Given the description of an element on the screen output the (x, y) to click on. 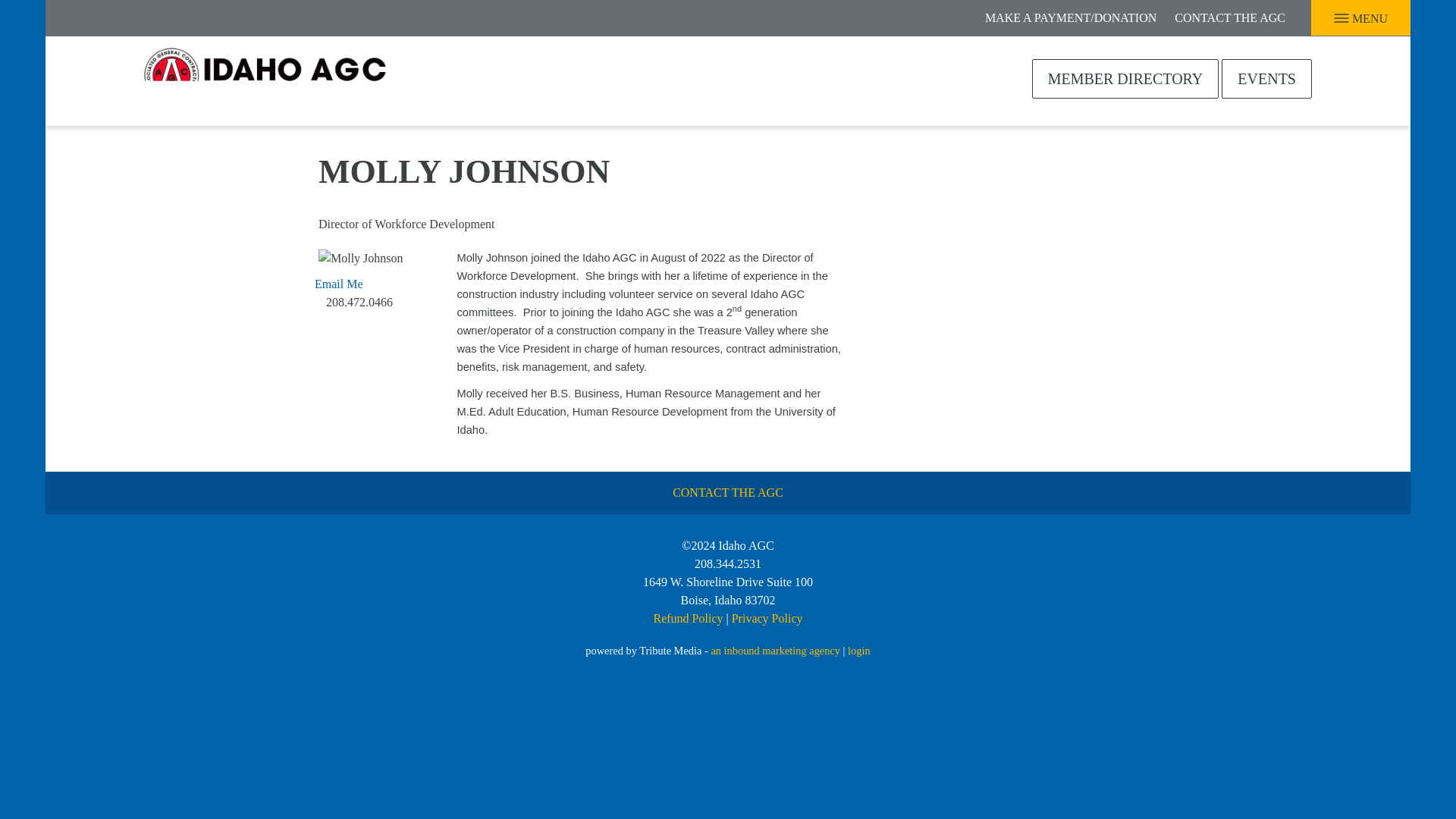
LINKEDIN (87, 16)
TWITTER (121, 16)
Home (265, 75)
CONTACT THE AGC (1229, 17)
MENU (1357, 18)
FACEBOOK (57, 16)
